Given the description of an element on the screen output the (x, y) to click on. 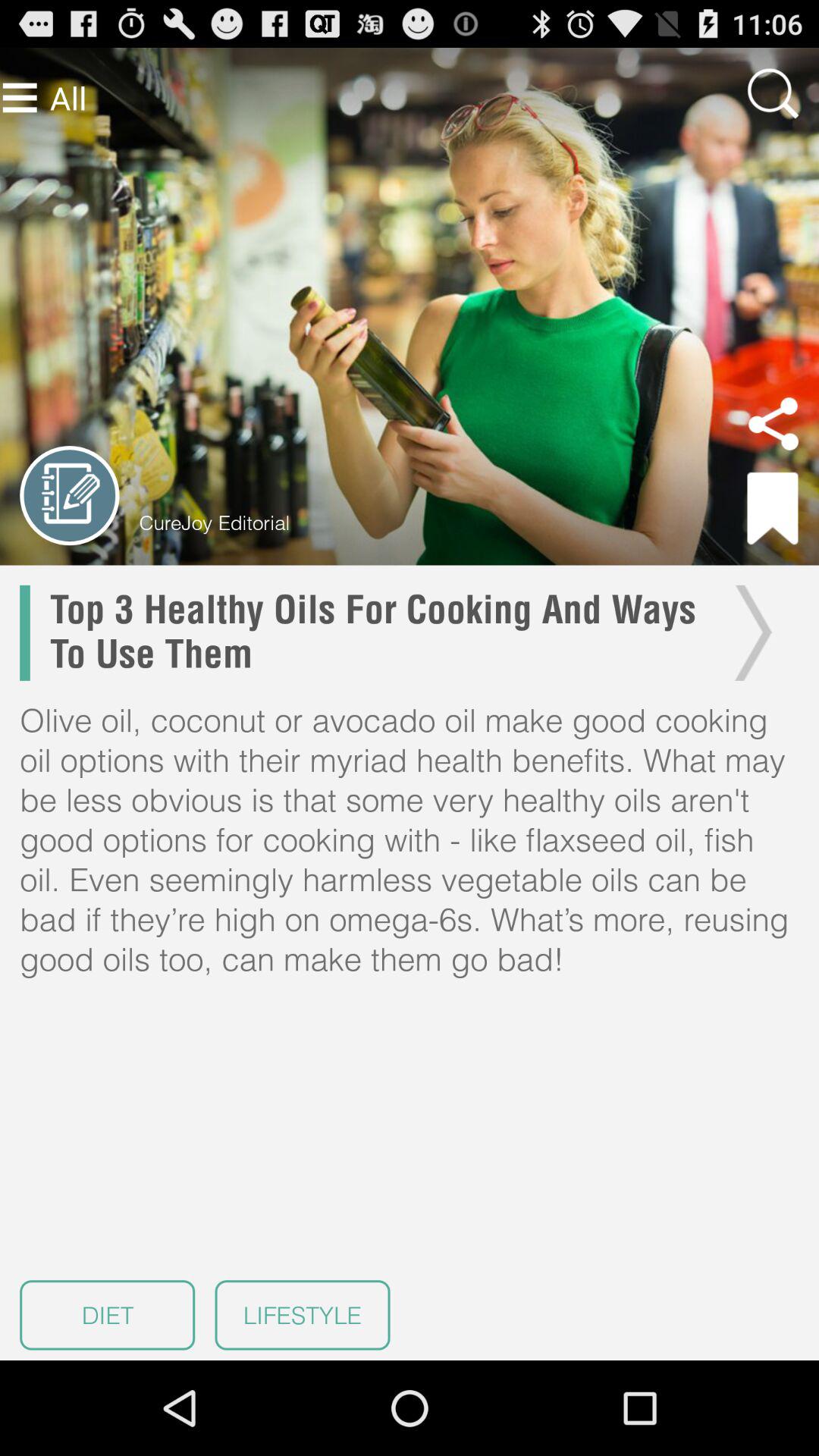
go to menu (19, 97)
